Given the description of an element on the screen output the (x, y) to click on. 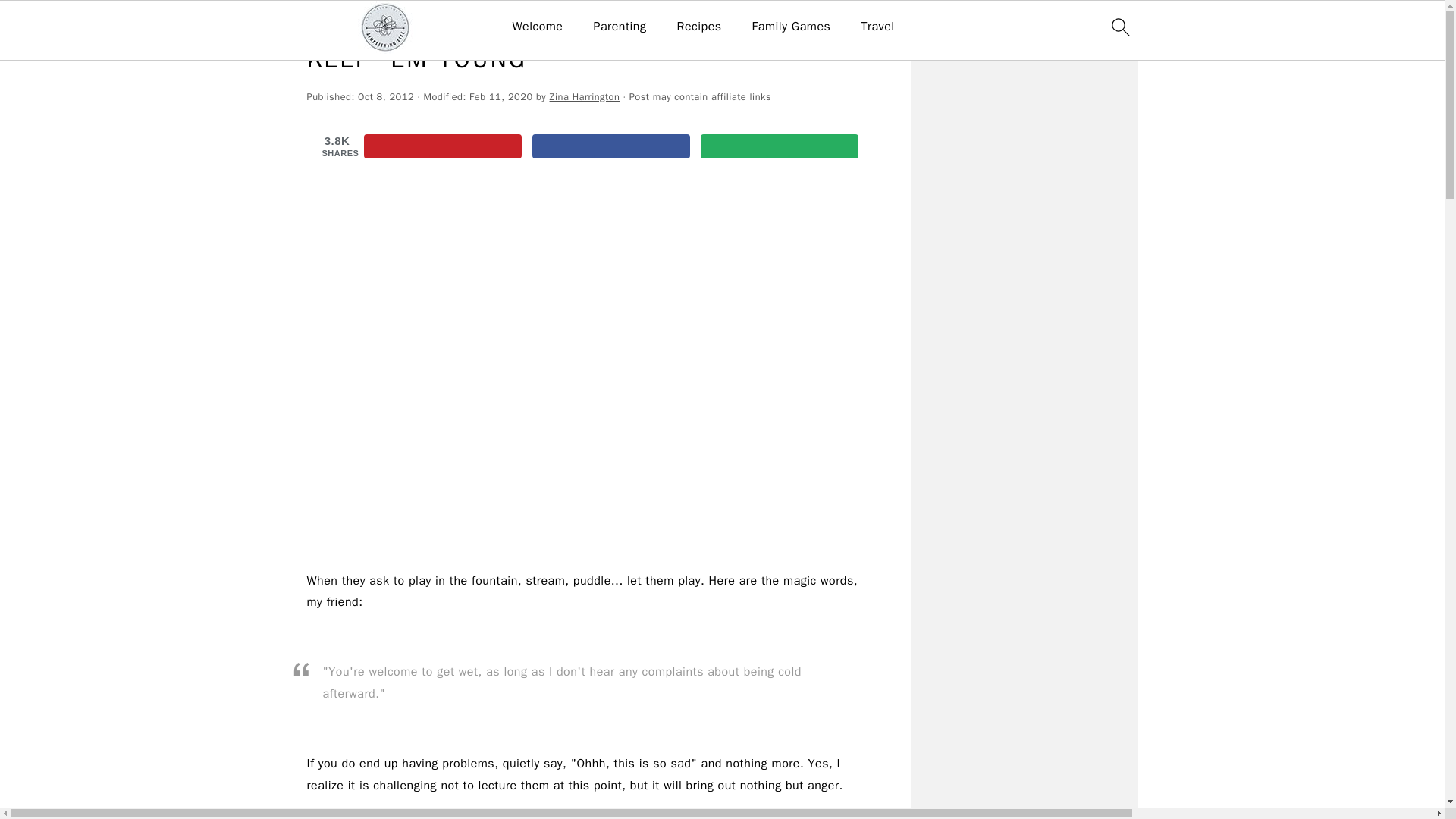
Parenting (619, 26)
Save to Pinterest (443, 146)
Blog (353, 23)
Travel (876, 26)
search icon (1119, 26)
Modern Parenting (414, 23)
Share on Facebook (611, 146)
Home (319, 23)
Welcome (537, 26)
Recipes (698, 26)
